Given the description of an element on the screen output the (x, y) to click on. 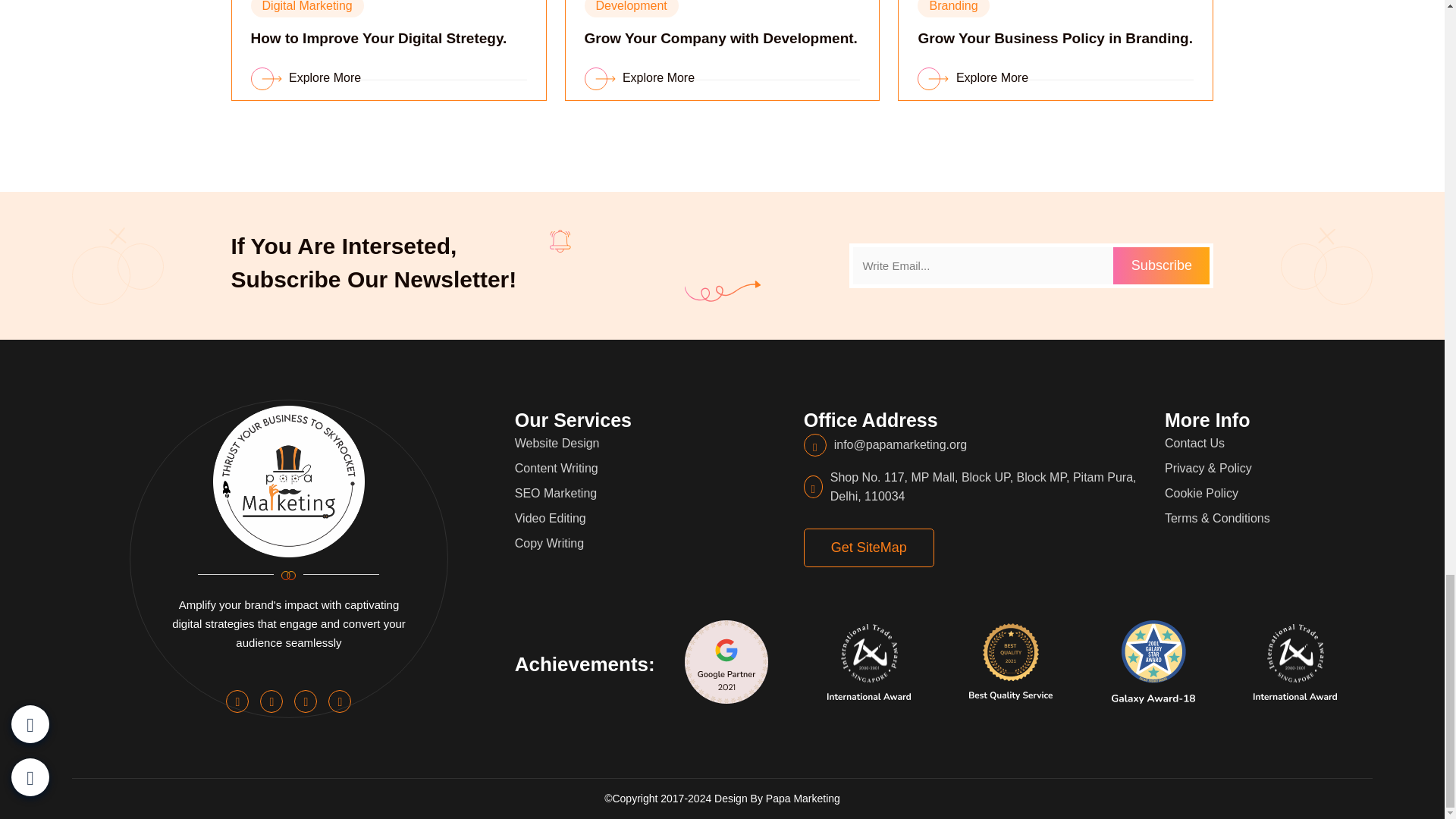
Explore More (972, 77)
Explore More (305, 77)
Grow Your Company with Development. (720, 37)
Explore More (638, 77)
Subscribe (1161, 265)
Grow Your Business Policy in Branding. (1054, 37)
How to Improve Your Digital Stretegy. (378, 37)
